Given the description of an element on the screen output the (x, y) to click on. 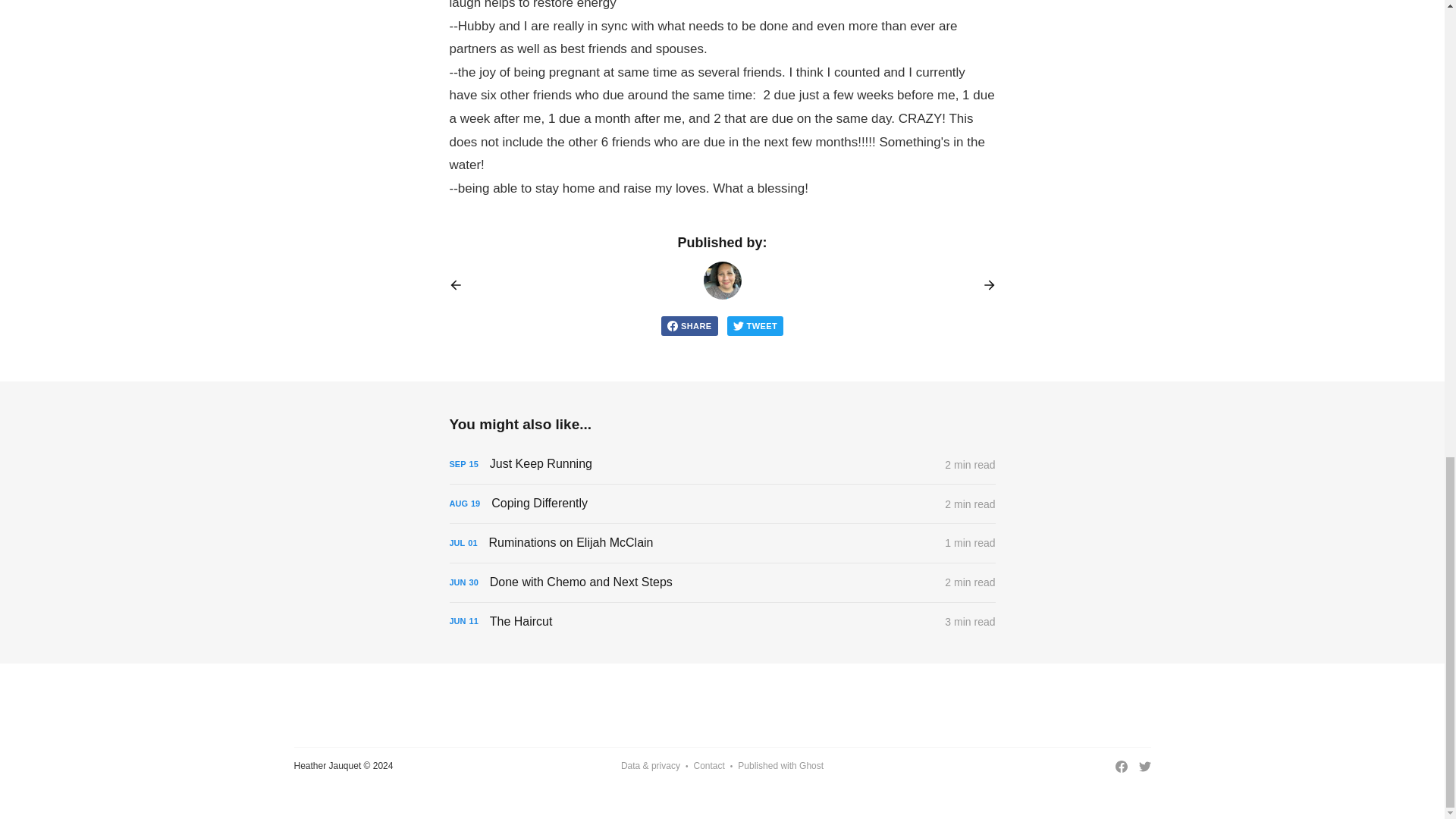
TWEET (755, 325)
Contact (708, 766)
Published with Ghost (781, 766)
SHARE (689, 325)
